Given the description of an element on the screen output the (x, y) to click on. 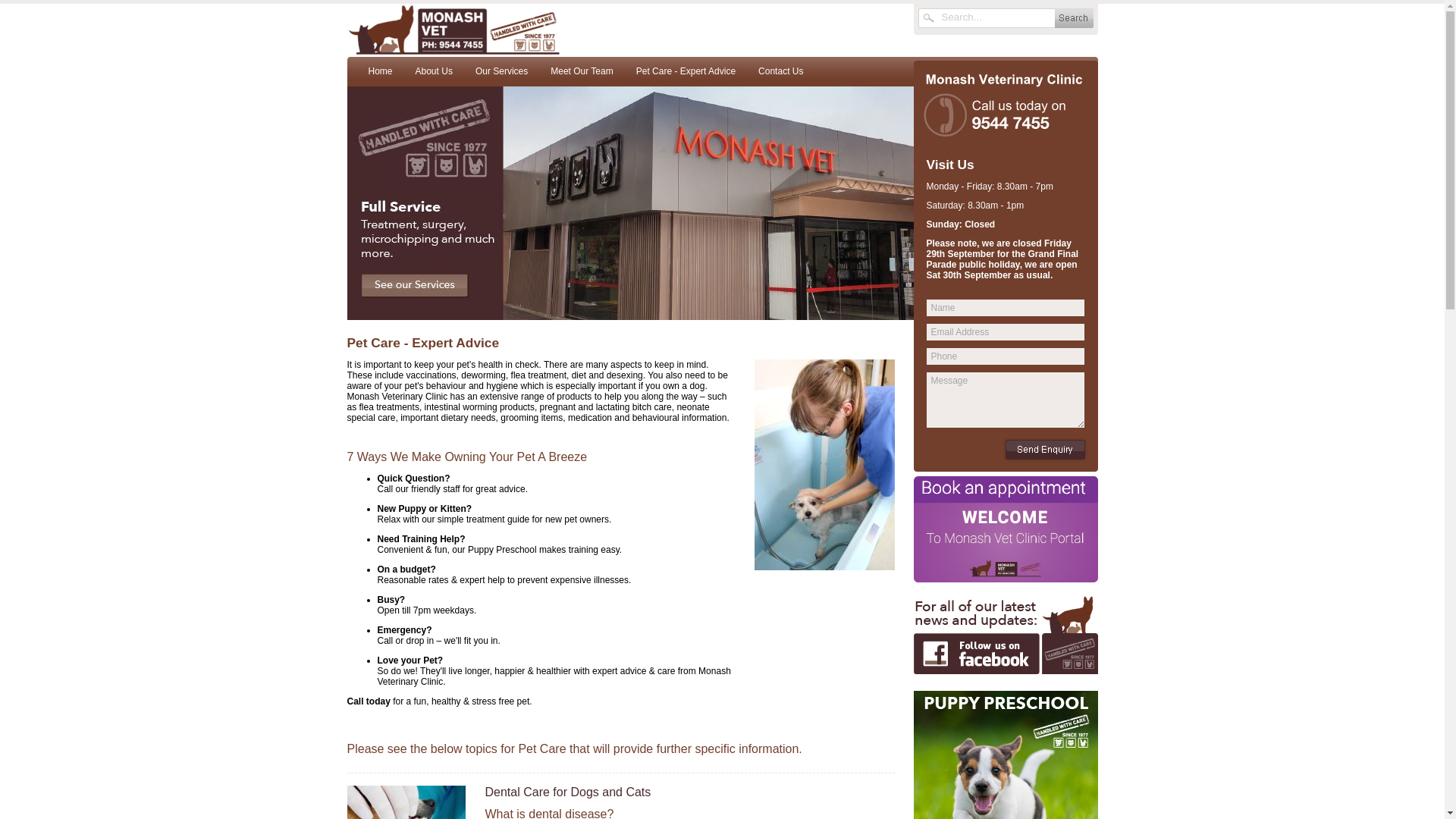
Our Services Element type: text (501, 70)
Pet Care - Expert Advice Element type: text (685, 70)
About Us Element type: text (434, 70)
Meet Our Team Element type: text (581, 70)
Home Element type: text (379, 70)
Contact Us Element type: text (780, 70)
Dental Care for Dogs and Cats Element type: text (568, 791)
